Given the description of an element on the screen output the (x, y) to click on. 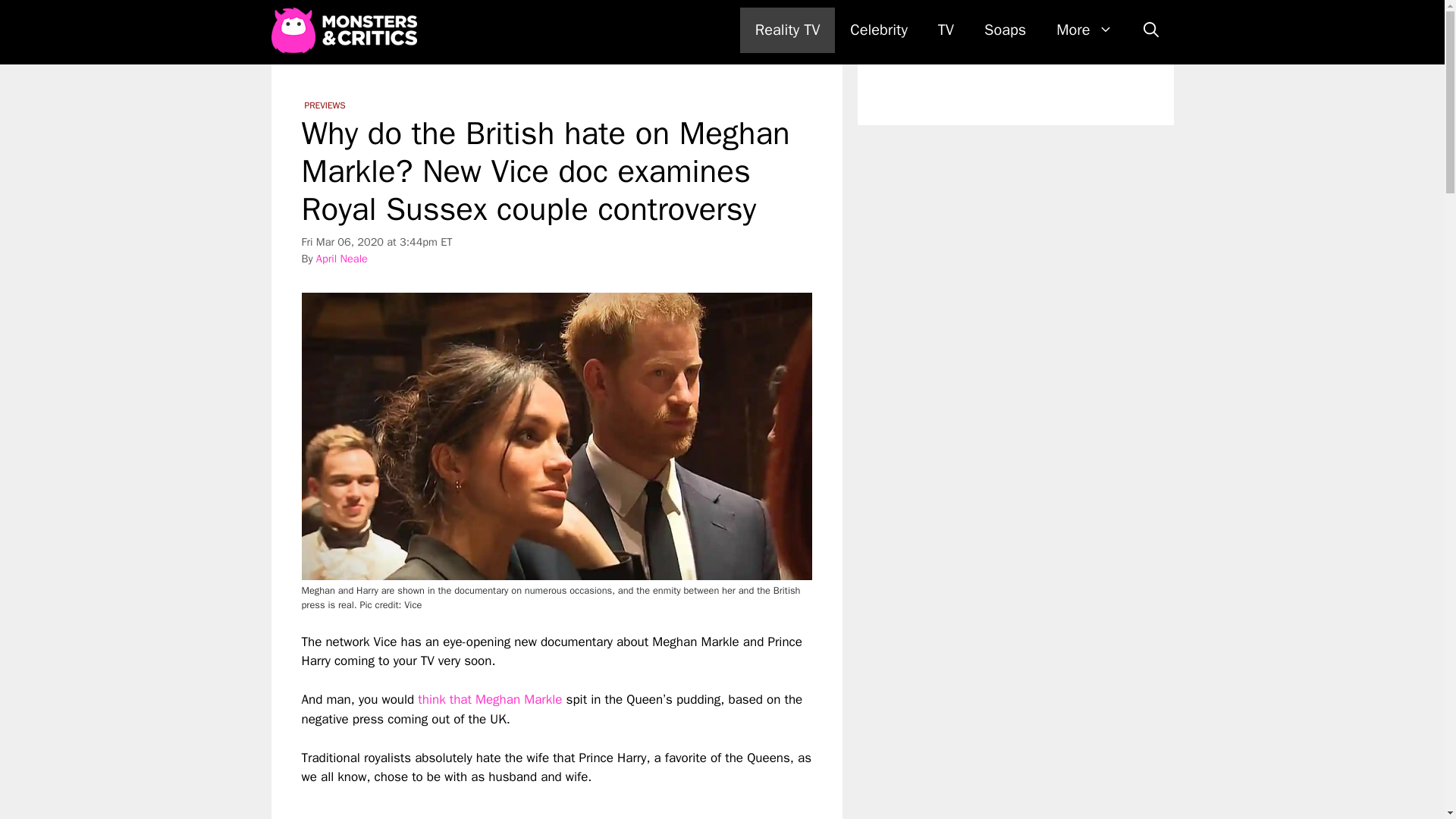
Reality TV (787, 30)
think that Meghan Markle (489, 699)
Monsters and Critics (347, 30)
April Neale (341, 258)
Soaps (1005, 30)
Monsters and Critics (343, 30)
More (1083, 30)
YouTube video player (513, 803)
TV (946, 30)
Celebrity (877, 30)
